Given the description of an element on the screen output the (x, y) to click on. 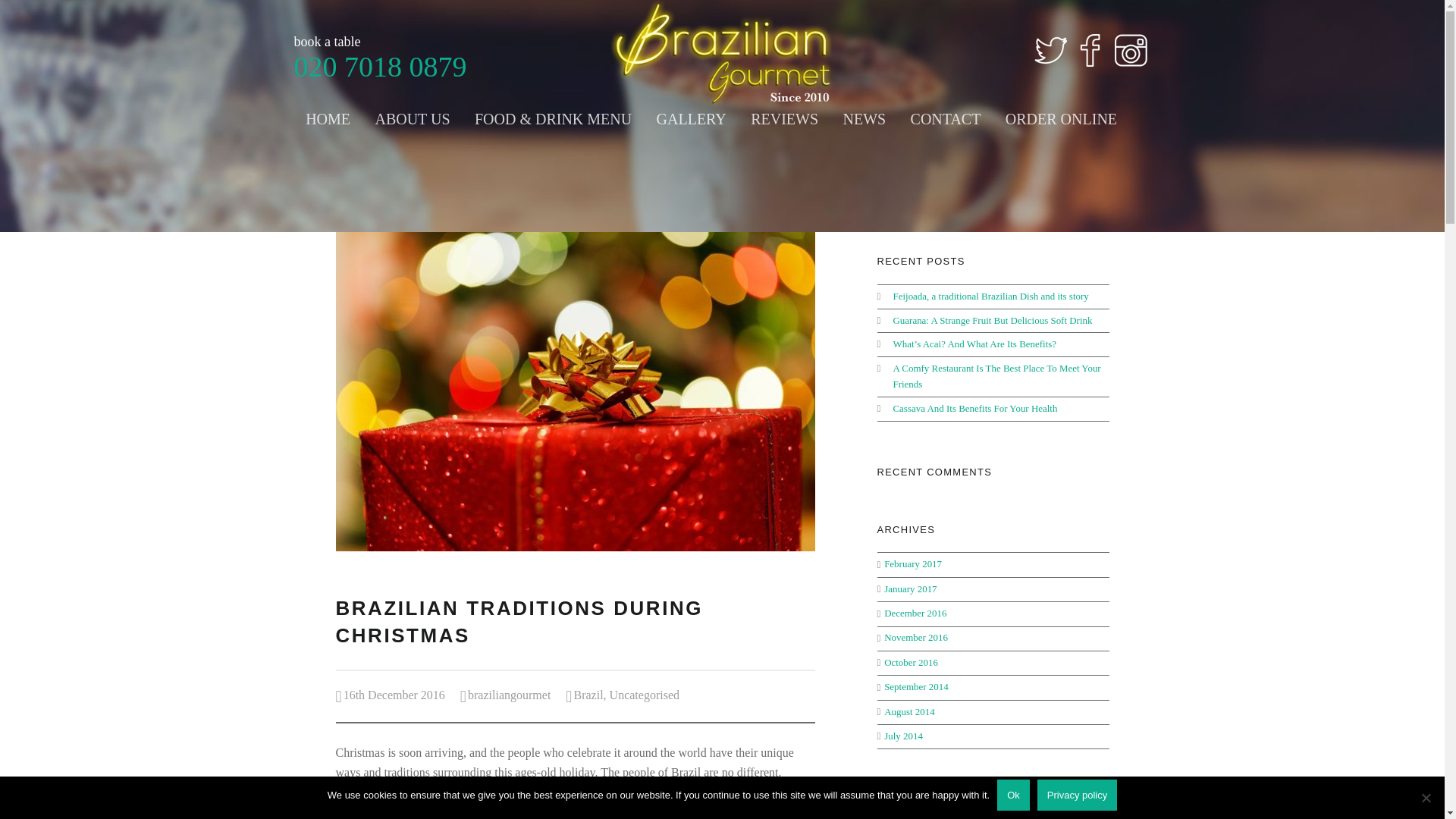
August 2014 (908, 711)
GALLERY (691, 118)
December 2016 (914, 613)
insta (1131, 50)
HOME (327, 118)
16th December 2016 (394, 694)
Uncategorised (644, 694)
REVIEWS (784, 118)
face (1090, 50)
Brazilian Gourmet (722, 54)
Guarana: A Strange Fruit But Delicious Soft Drink (992, 319)
A Comfy Restaurant Is The Best Place To Meet Your Friends (996, 375)
ORDER ONLINE (1061, 118)
September 2014 (916, 686)
February 2017 (912, 563)
